Given the description of an element on the screen output the (x, y) to click on. 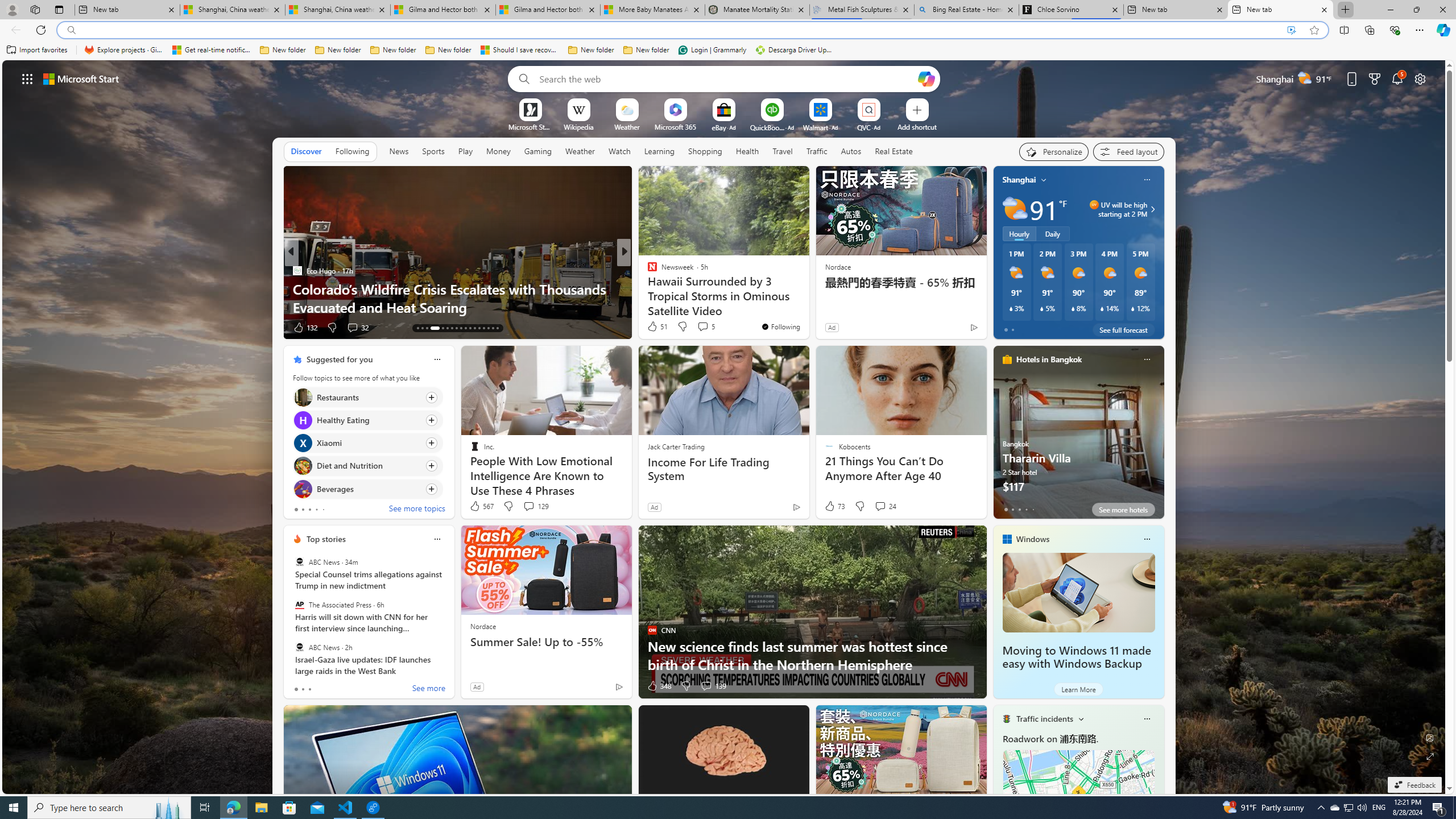
Newsweek (296, 270)
AutomationID: tab-32 (492, 328)
Enhance video (1291, 29)
Hotels in Bangkok (1048, 359)
PsychLove (647, 270)
You're following Newsweek (780, 326)
Thararin Villa (1078, 436)
567 Like (480, 505)
73 Like (834, 505)
